Given the description of an element on the screen output the (x, y) to click on. 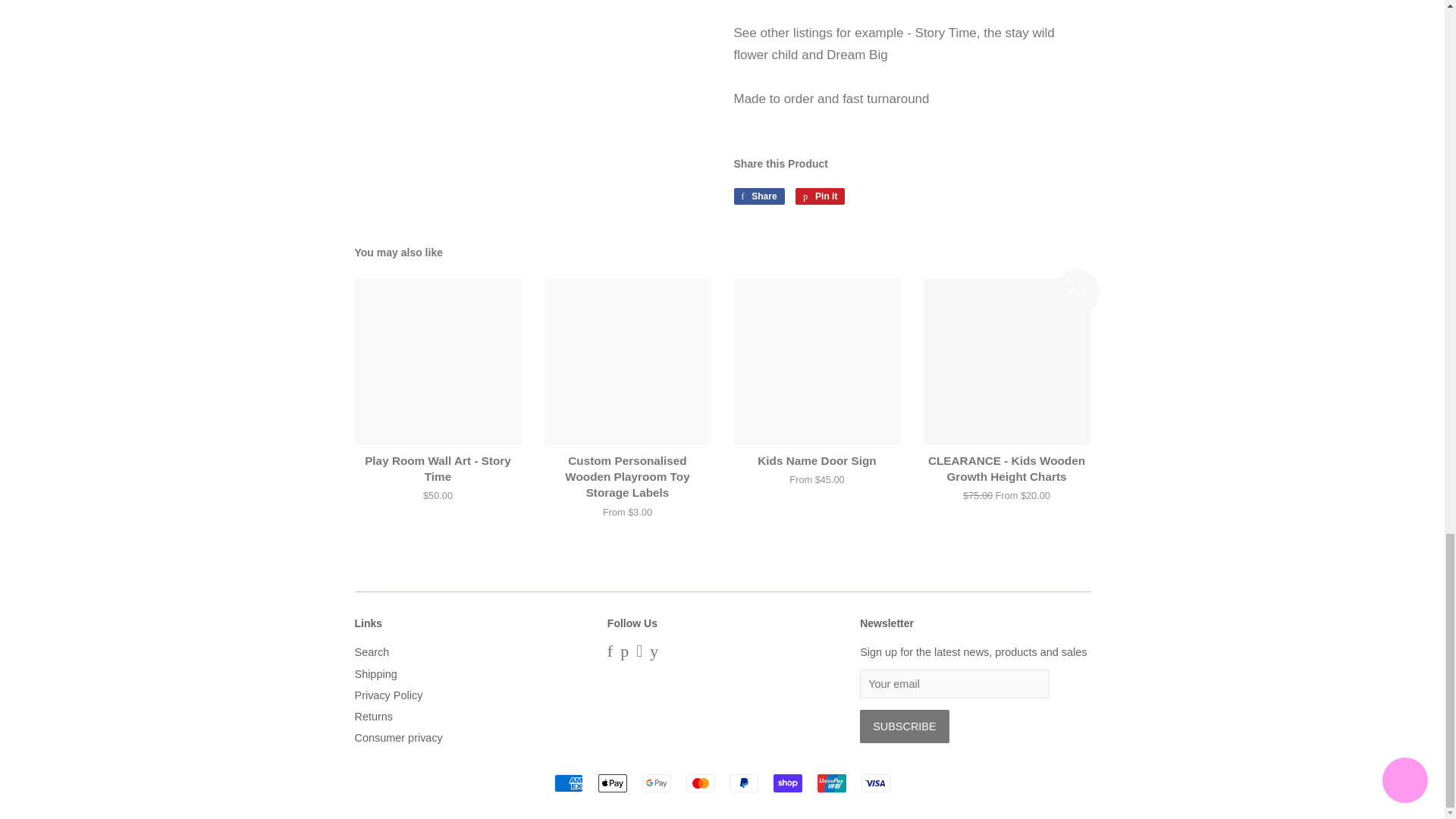
Union Pay (830, 782)
Google Pay (656, 782)
PayPal (743, 782)
Apple Pay (612, 782)
Mastercard (699, 782)
Share on Facebook (758, 196)
Shop Pay (787, 782)
Visa (875, 782)
American Express (568, 782)
Subscribe (904, 726)
